Given the description of an element on the screen output the (x, y) to click on. 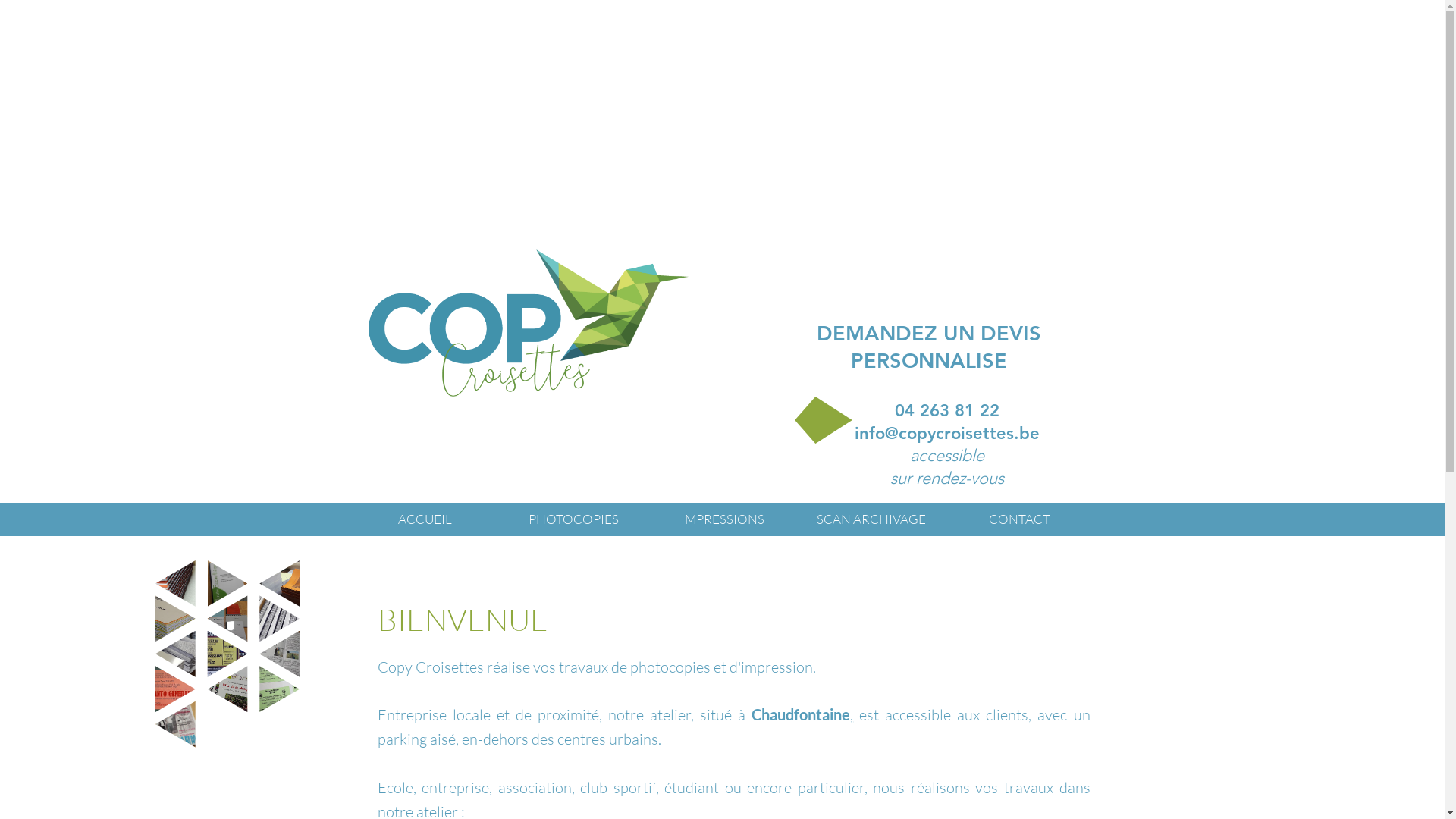
CONTACT Element type: text (1018, 519)
SCAN ARCHIVAGE Element type: text (870, 519)
info@copycroisettes.be Element type: text (945, 433)
04 263 81 22 Element type: text (946, 410)
PHOTOCOPIES Element type: text (572, 519)
ACCUEIL Element type: text (424, 519)
Chaudfontaine, Element type: text (802, 714)
IMPRESSIONS Element type: text (721, 519)
